Given the description of an element on the screen output the (x, y) to click on. 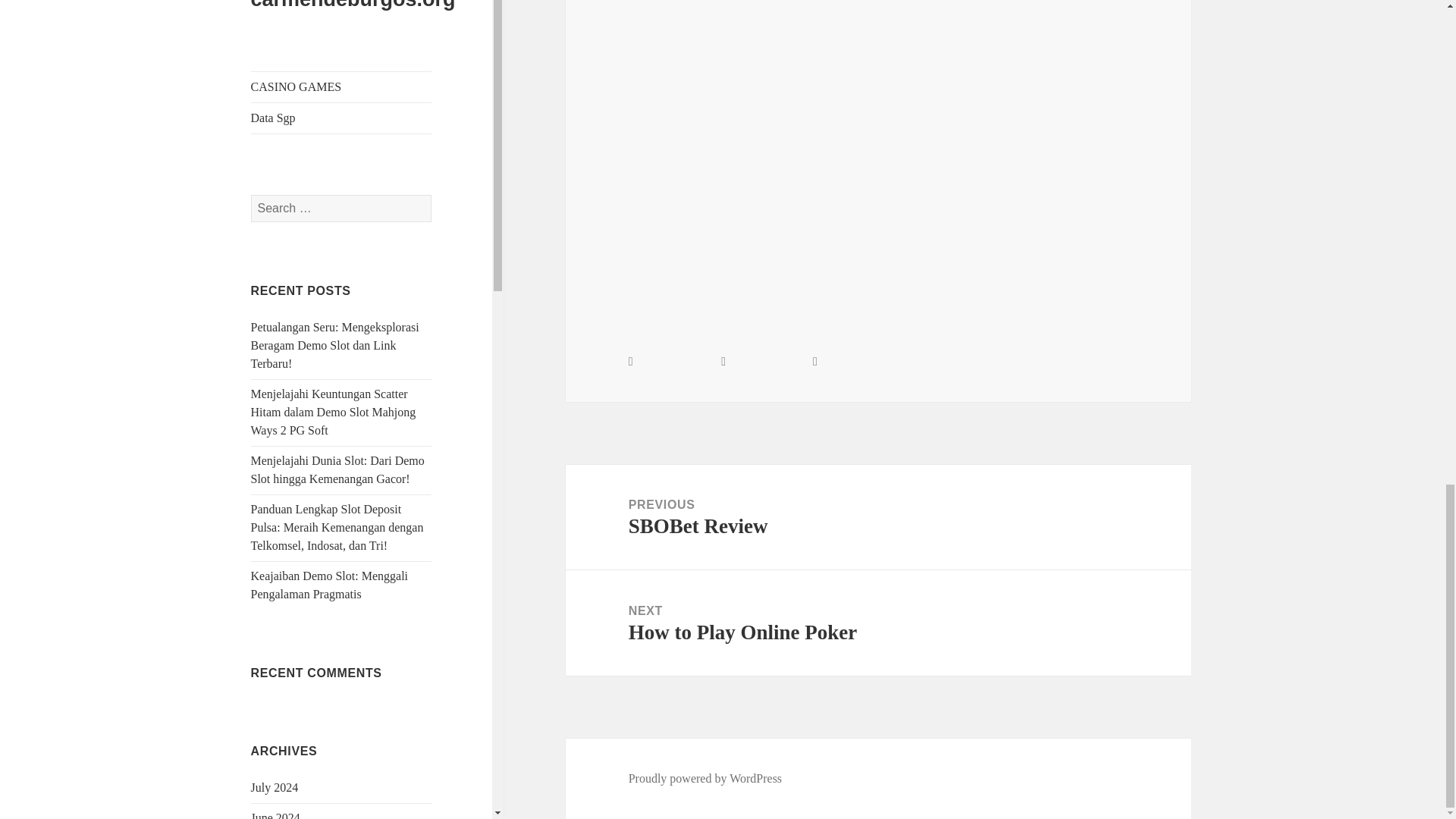
March 2022 (280, 508)
May 2023 (274, 83)
May 2022 (274, 448)
October 2022 (283, 296)
July 2022 (274, 387)
July 2023 (274, 23)
December 2022 (289, 236)
August 2022 (281, 357)
March 2023 (280, 144)
February 2023 (285, 174)
April 2022 (277, 478)
June 2022 (274, 418)
September 2022 (290, 327)
January 2023 (282, 205)
April 2023 (277, 114)
